Given the description of an element on the screen output the (x, y) to click on. 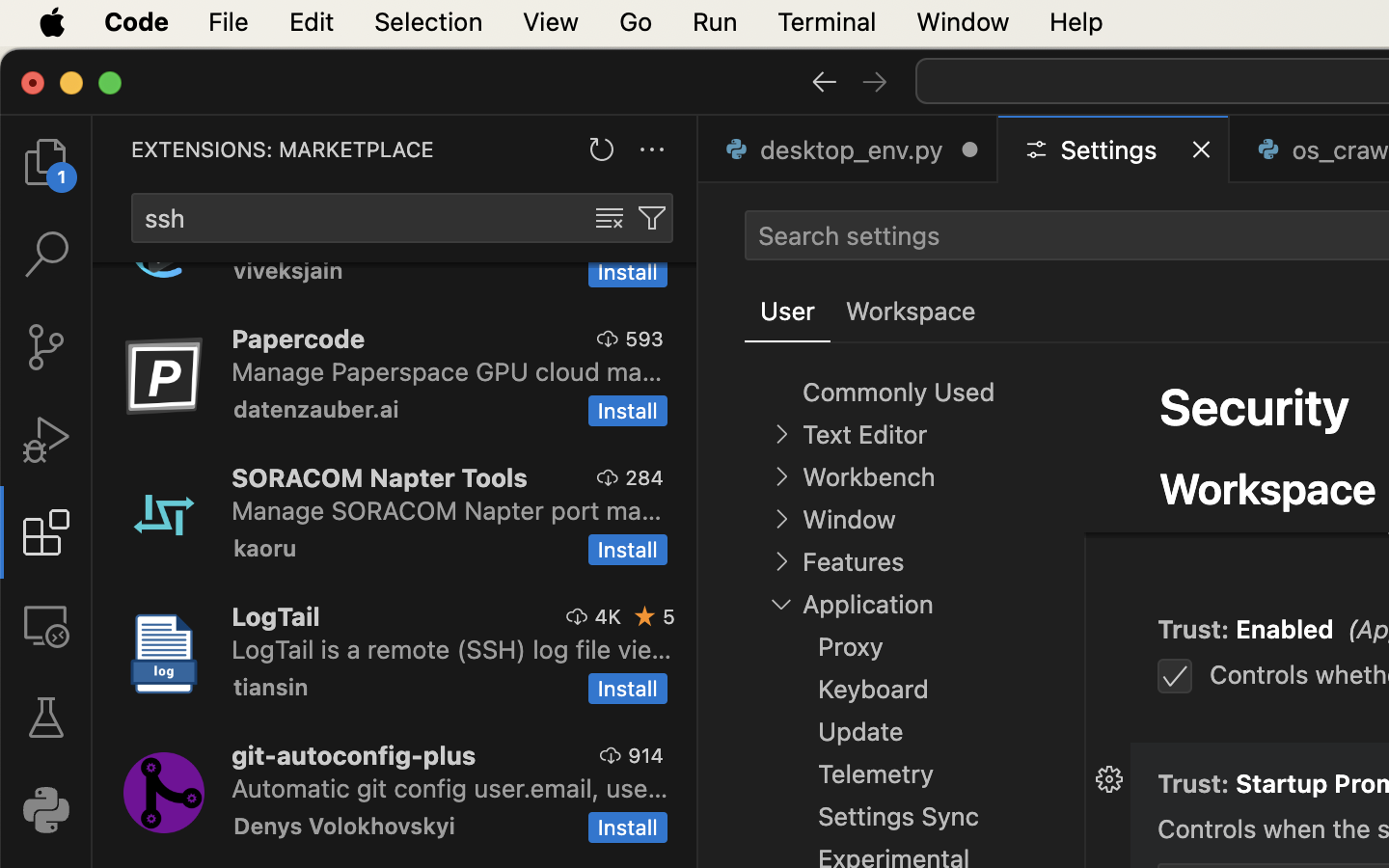
Workbench Element type: AXStaticText (868, 476)
1 Settings   Element type: AXRadioButton (1114, 149)
datenzauber.ai Element type: AXStaticText (316, 408)
4K Element type: AXStaticText (607, 615)
0  Element type: AXRadioButton (46, 346)
